Given the description of an element on the screen output the (x, y) to click on. 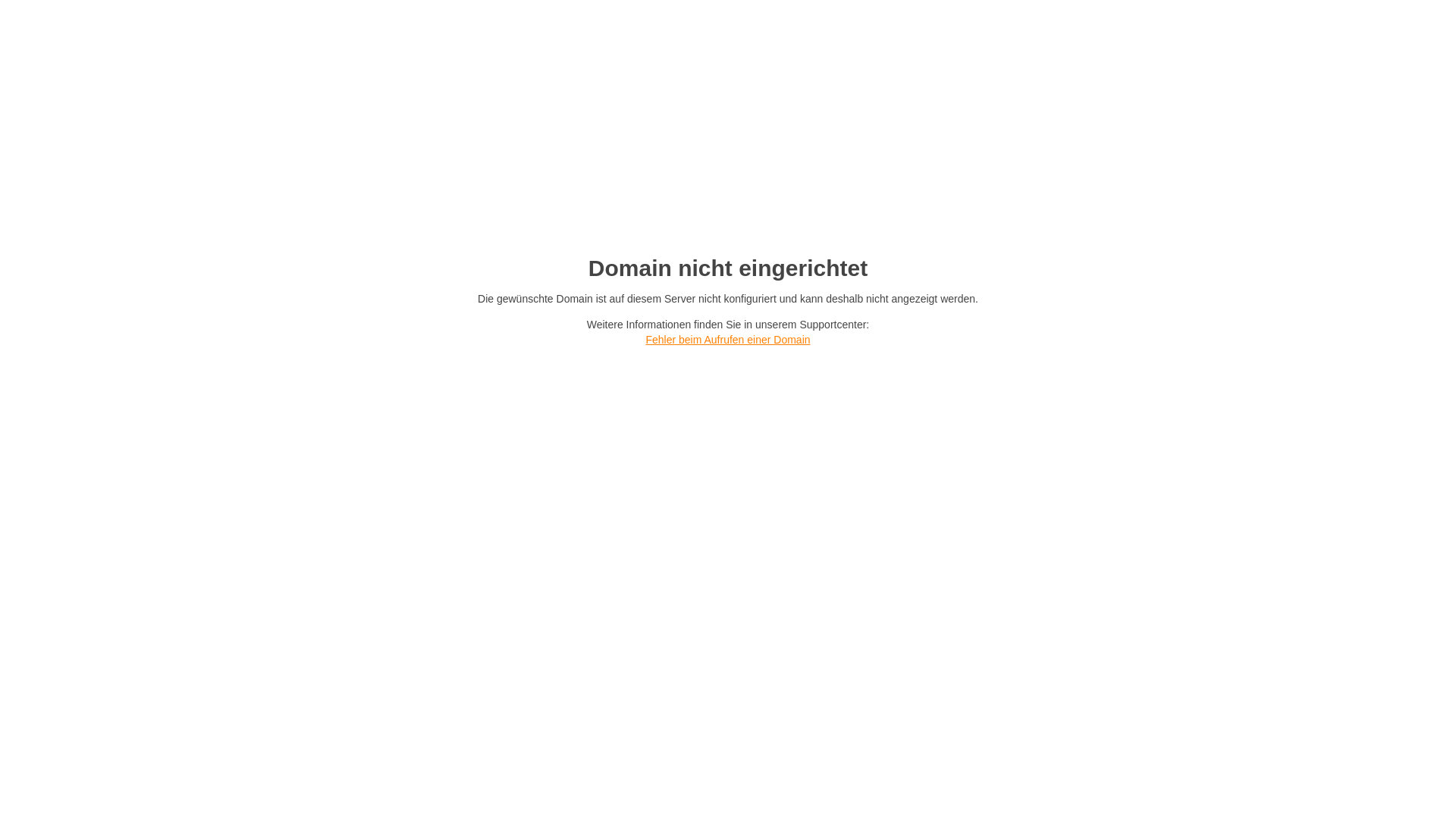
Fehler beim Aufrufen einer Domain Element type: text (727, 339)
